Given the description of an element on the screen output the (x, y) to click on. 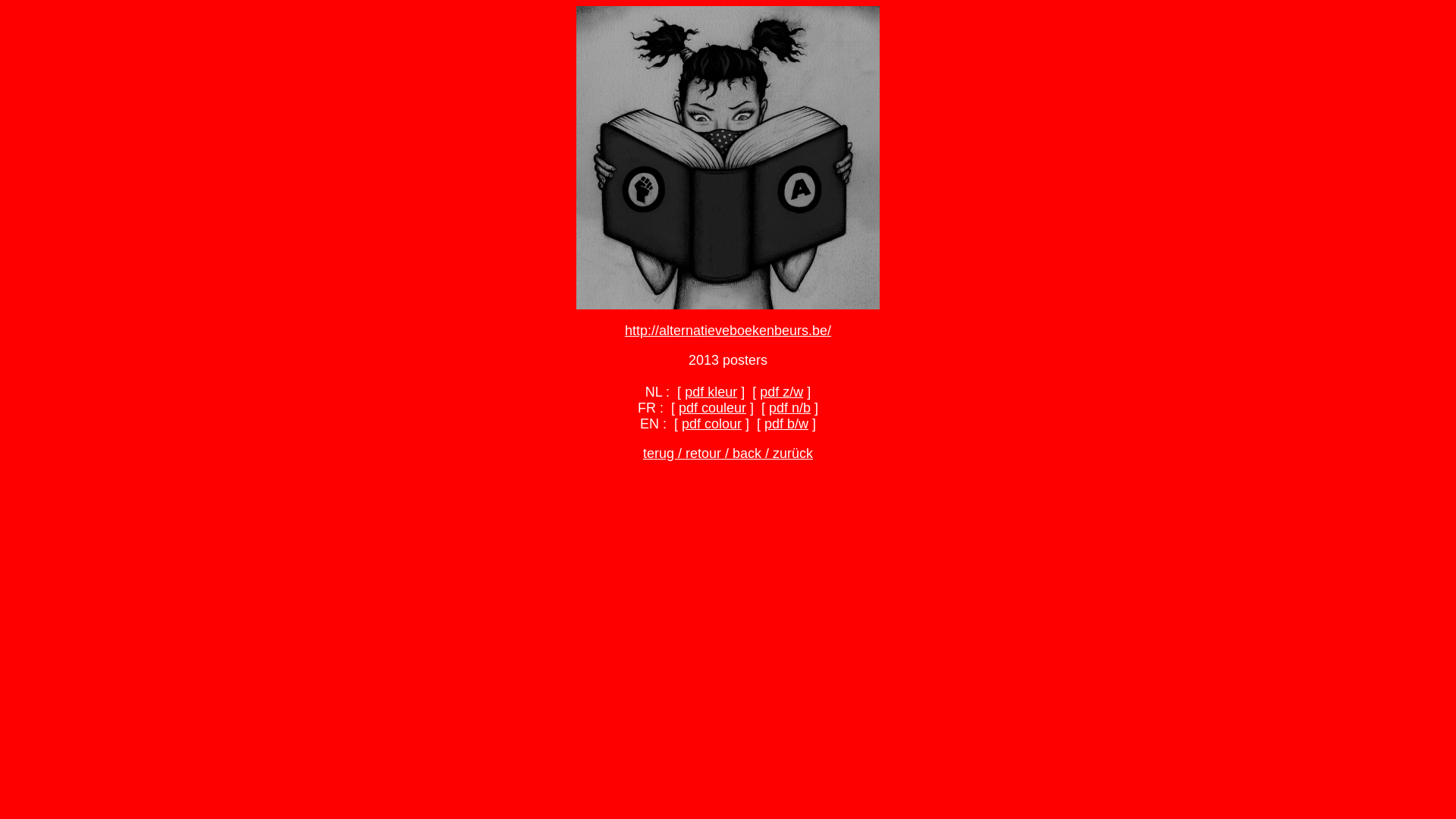
pdf z/w Element type: text (781, 391)
pdf couleur Element type: text (712, 407)
pdf kleur Element type: text (710, 391)
http://alternatieveboekenbeurs.be/ Element type: text (727, 330)
pdf b/w Element type: text (786, 423)
pdf n/b Element type: text (789, 407)
pdf colour Element type: text (711, 423)
